Given the description of an element on the screen output the (x, y) to click on. 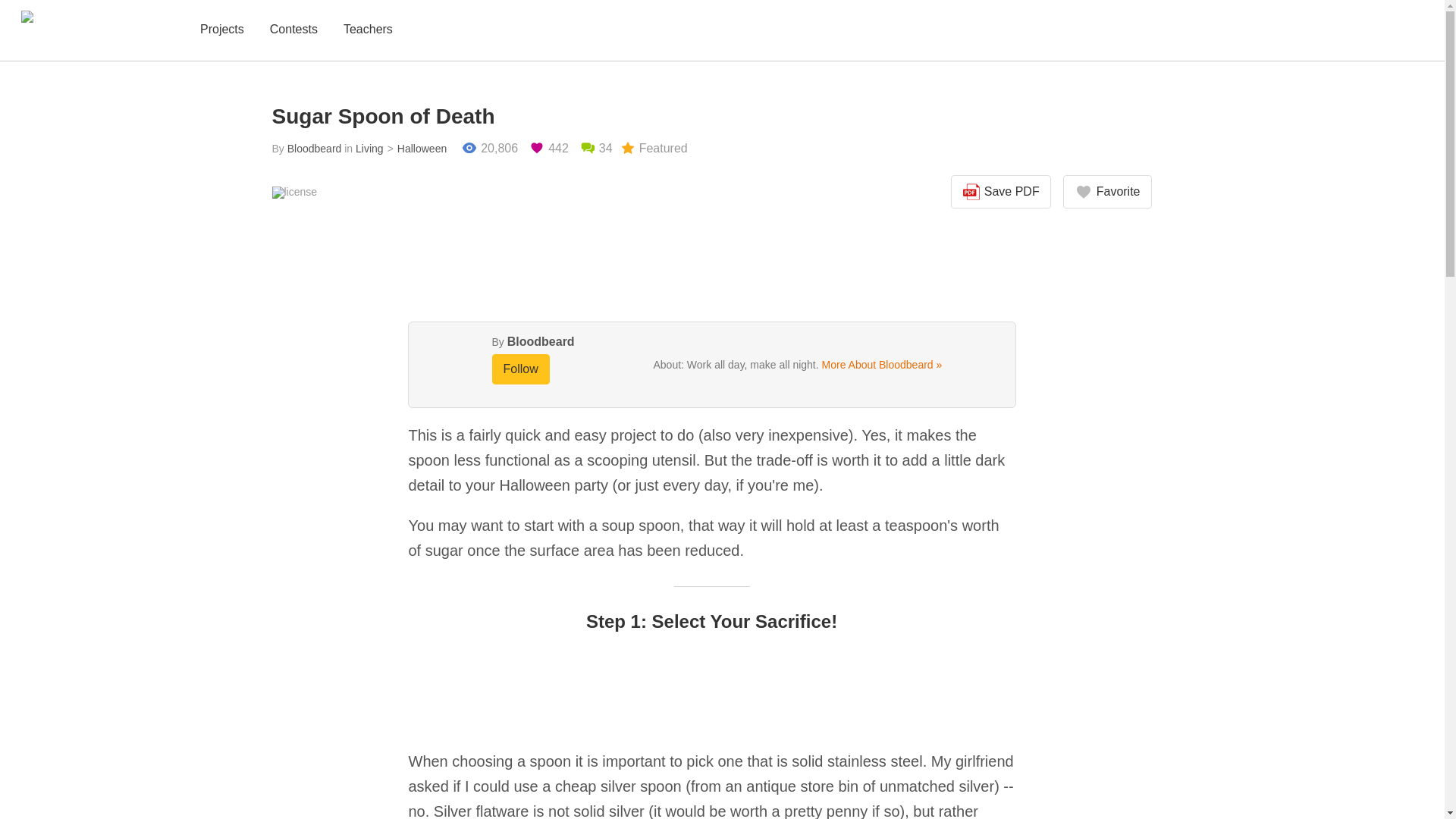
Bloodbeard (314, 148)
Teachers (368, 30)
Contests (293, 30)
34 (595, 148)
Favorite (1106, 191)
Follow (520, 368)
Living (369, 148)
Halloween (415, 148)
Save PDF (1000, 191)
Projects (221, 30)
